Given the description of an element on the screen output the (x, y) to click on. 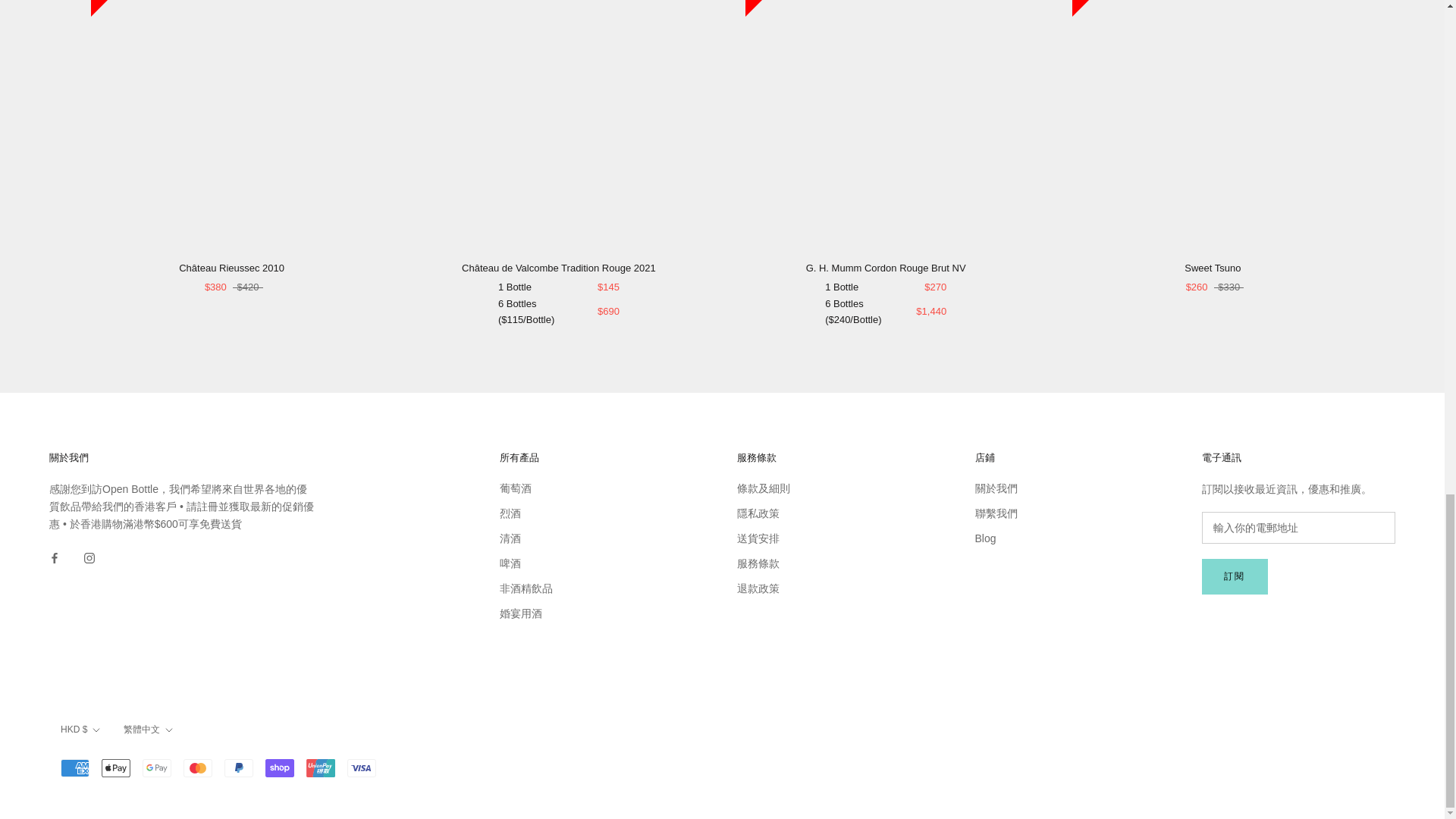
Union Pay (319, 768)
Visa (361, 768)
Shop Pay (279, 768)
Mastercard (197, 768)
Google Pay (156, 768)
PayPal (238, 768)
Apple Pay (116, 768)
American Express (74, 768)
